Given the description of an element on the screen output the (x, y) to click on. 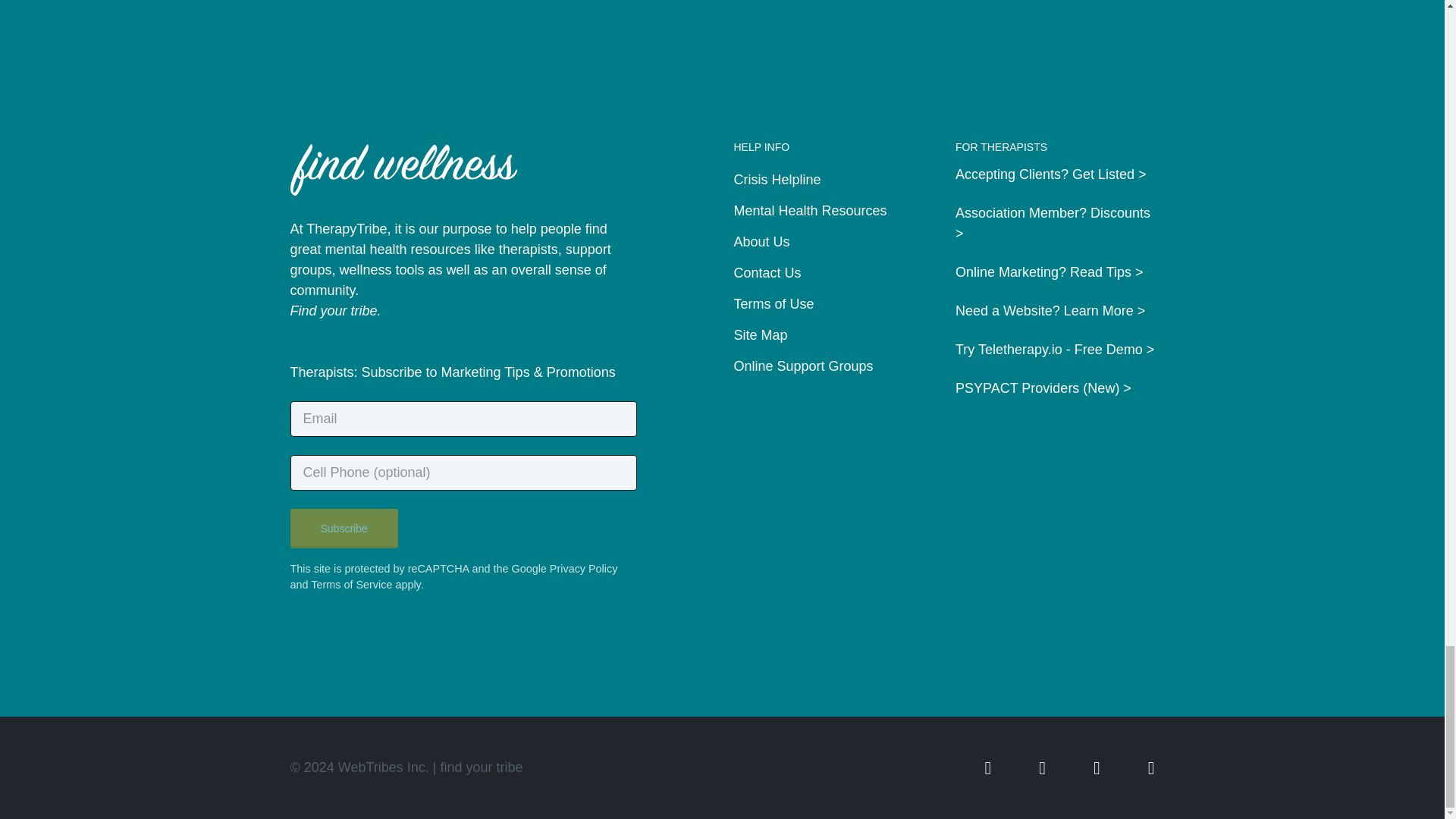
Subscribe (343, 527)
